Given the description of an element on the screen output the (x, y) to click on. 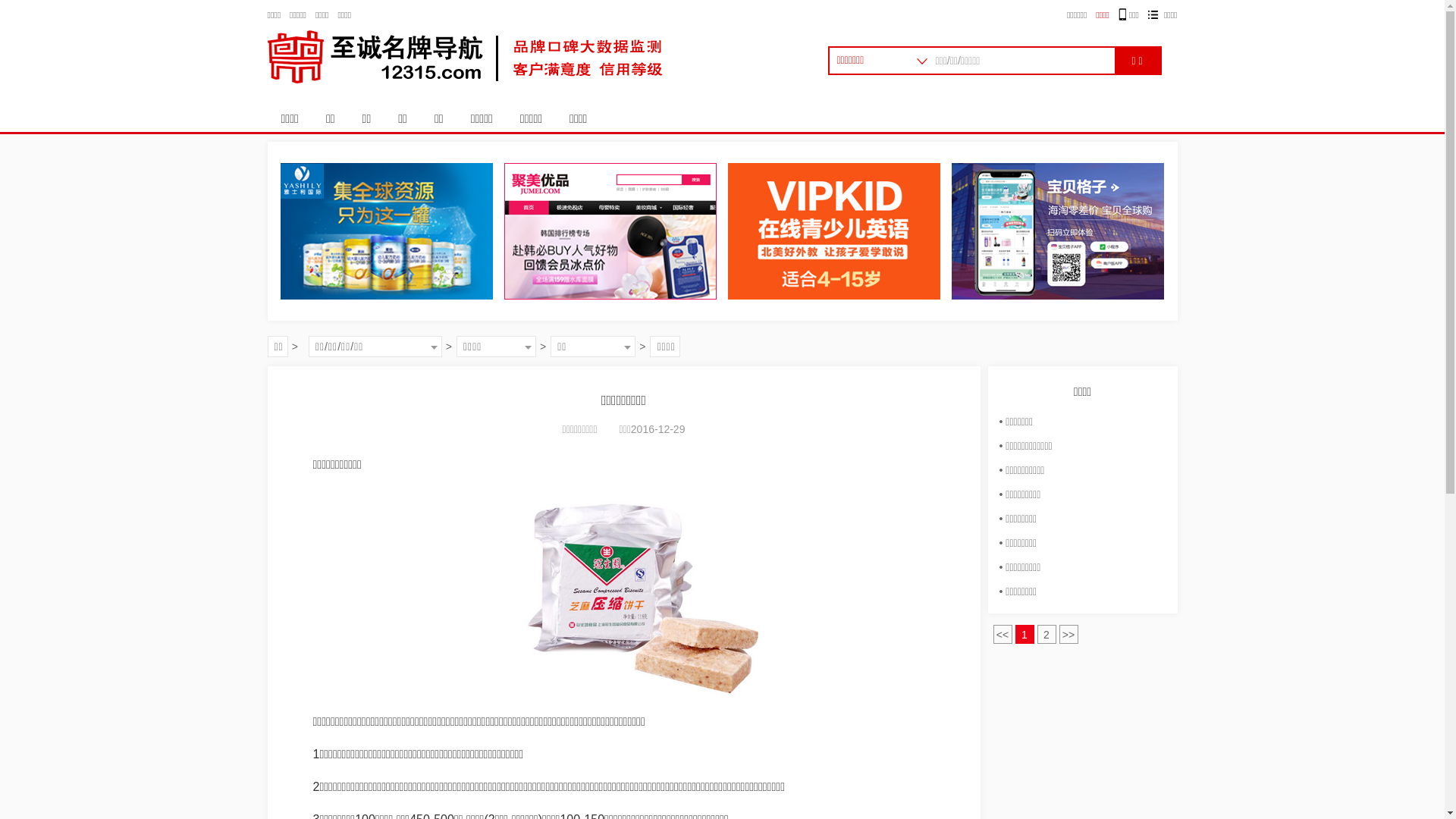
VIPKID Element type: hover (834, 231)
1 Element type: text (1023, 633)
>> Element type: text (1067, 633)
<< Element type: text (1002, 633)
2 Element type: text (1046, 633)
1482975824109808.png Element type: hover (633, 593)
